Given the description of an element on the screen output the (x, y) to click on. 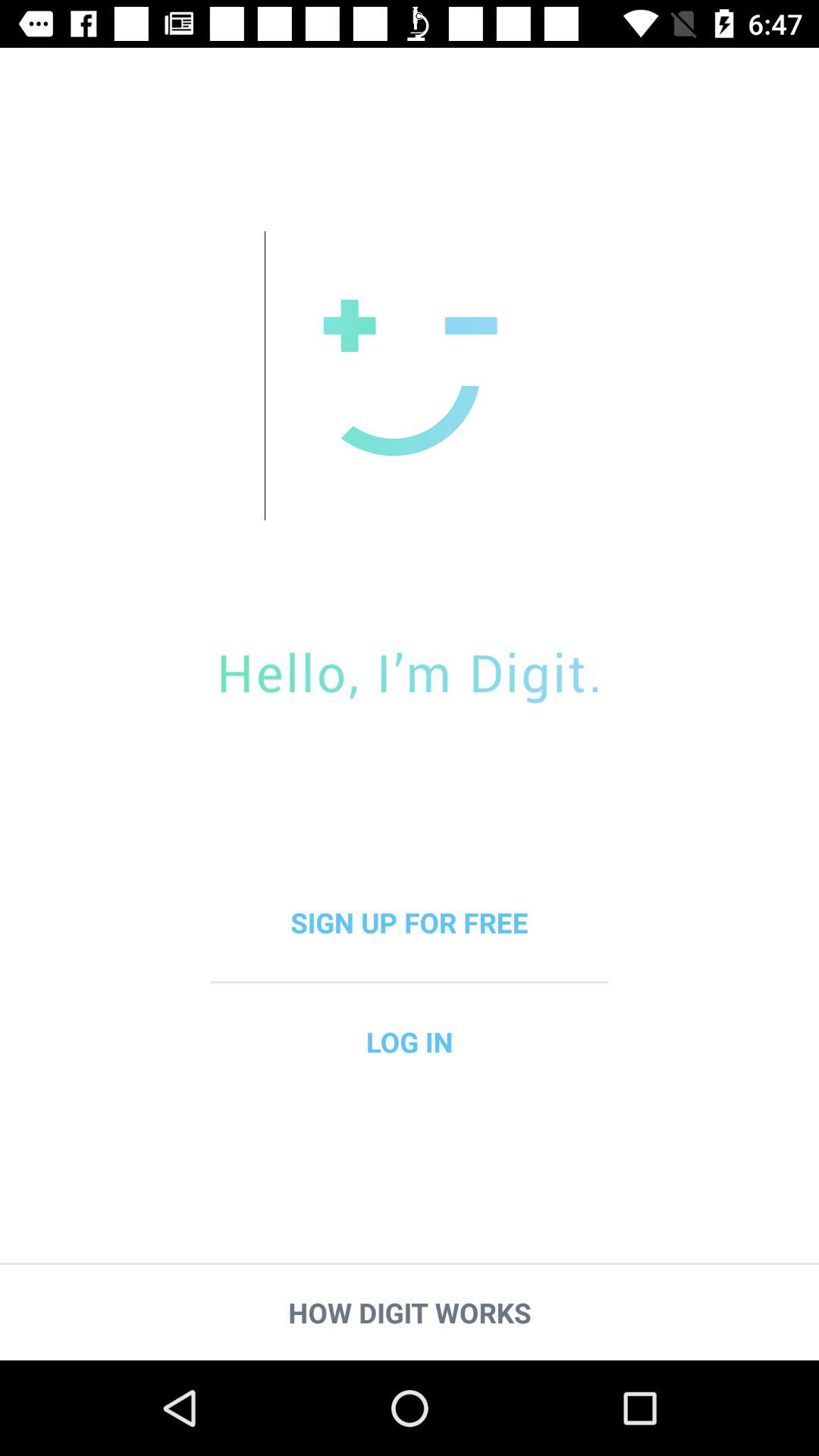
scroll until the log in icon (409, 1041)
